Given the description of an element on the screen output the (x, y) to click on. 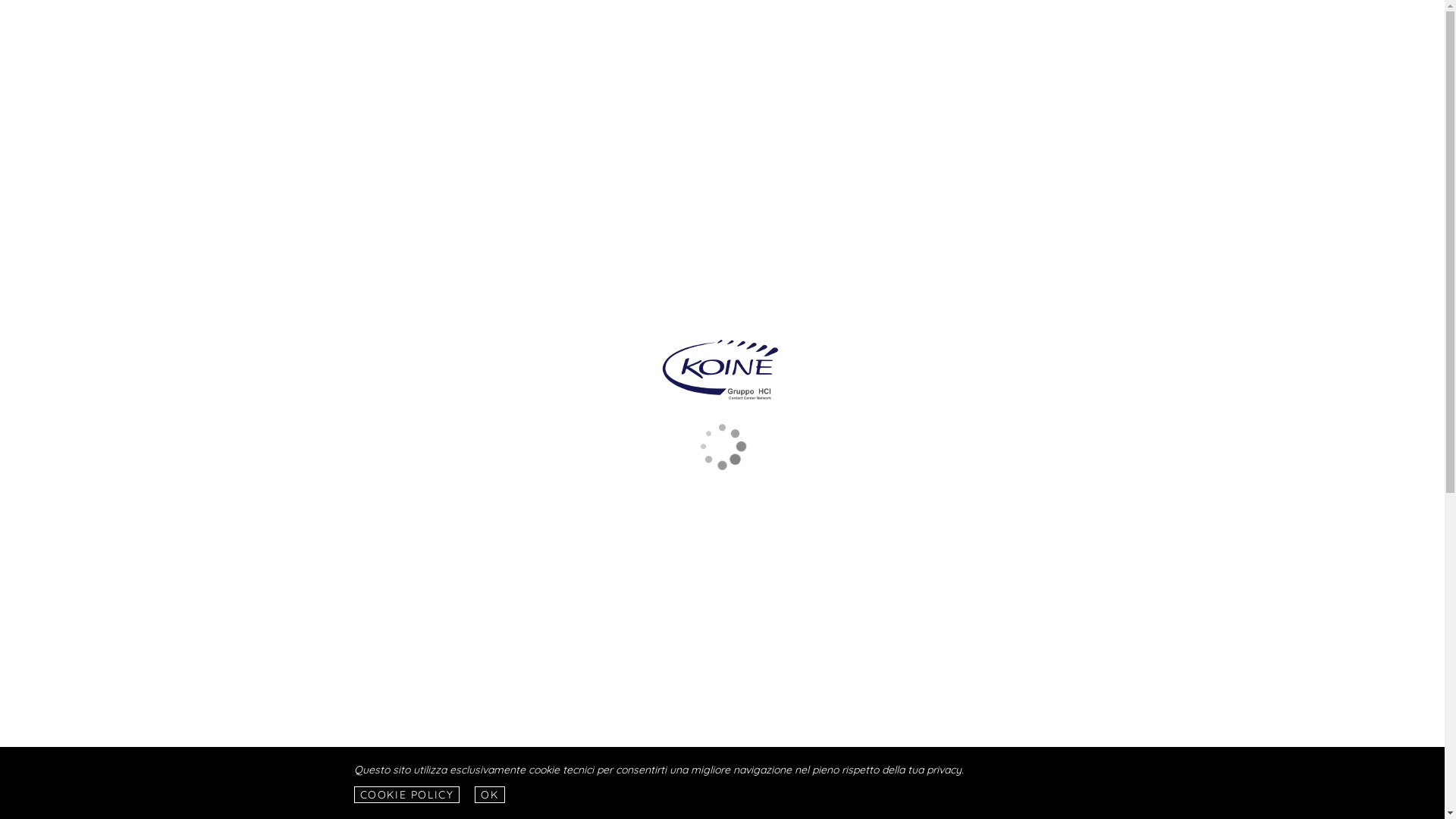
WORK WITH US Element type: text (850, 34)
www.premiocampiello.org Element type: text (722, 601)
CONTACTS Element type: text (1049, 34)
SOCIAL Element type: text (694, 34)
www.uncuoreunmondopadova.org Element type: text (722, 510)
OK Element type: text (489, 794)
QUALITY Element type: text (762, 34)
Privacy Element type: text (1129, 809)
COOKIE POLICY Element type: text (406, 794)
COMPANY Element type: text (623, 34)
HOME Element type: text (556, 34)
Business Process Outsourcing Element type: hover (334, 34)
Italiano Element type: hover (1111, 34)
TRANSPARENCY Element type: text (956, 34)
